Given the description of an element on the screen output the (x, y) to click on. 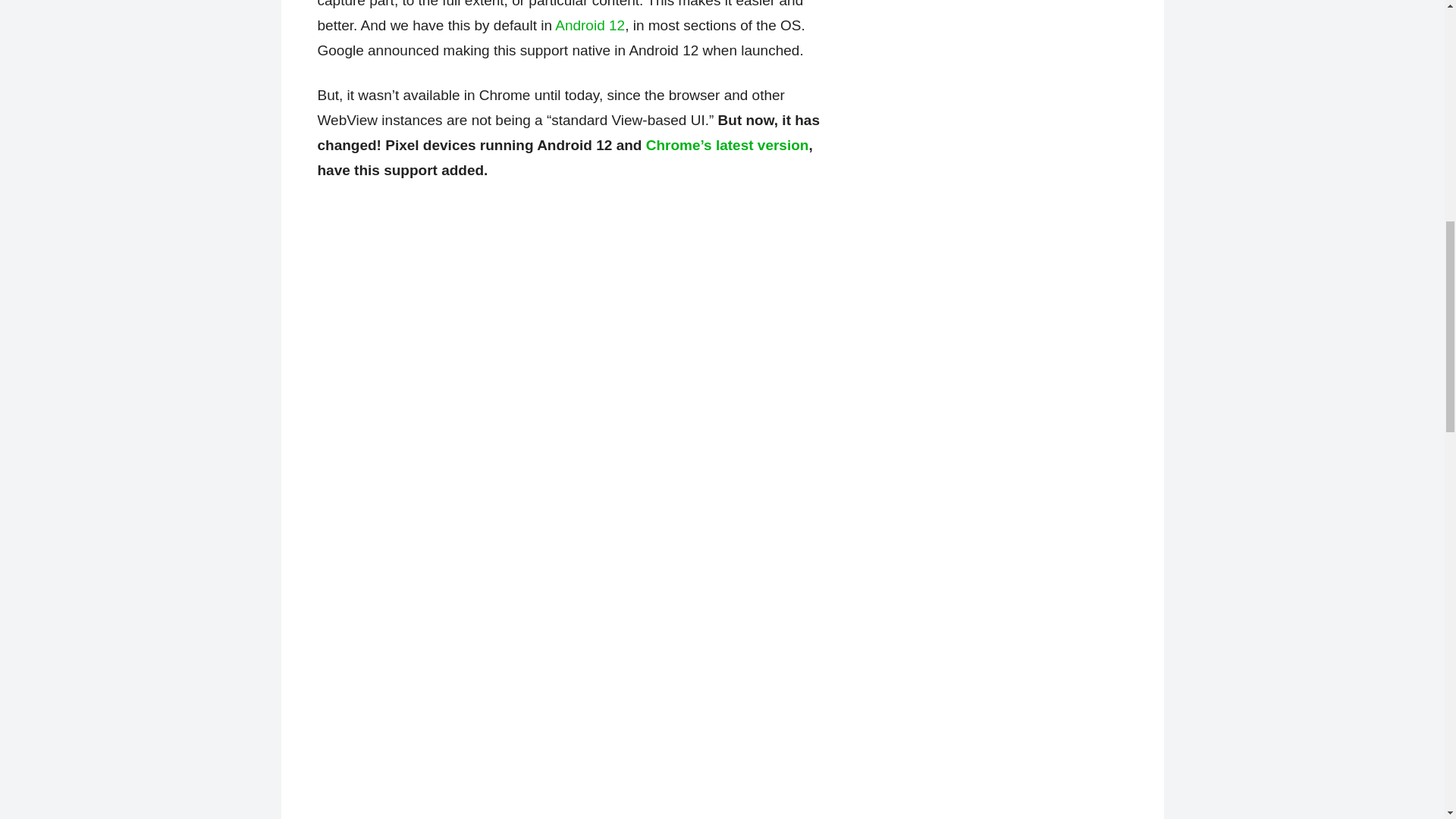
Android 12 (589, 25)
